Given the description of an element on the screen output the (x, y) to click on. 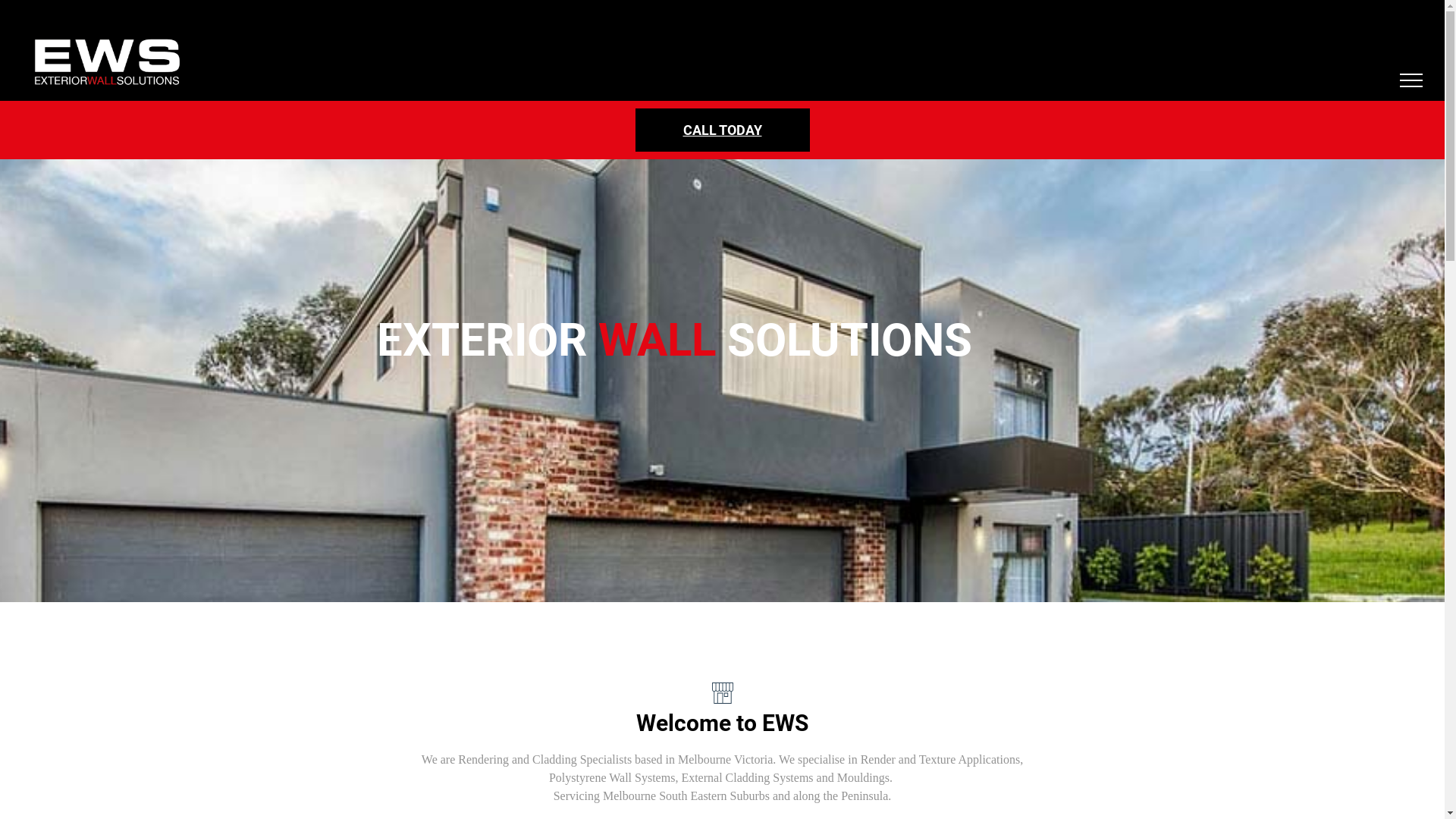
CALL TODAY Element type: text (722, 129)
